Given the description of an element on the screen output the (x, y) to click on. 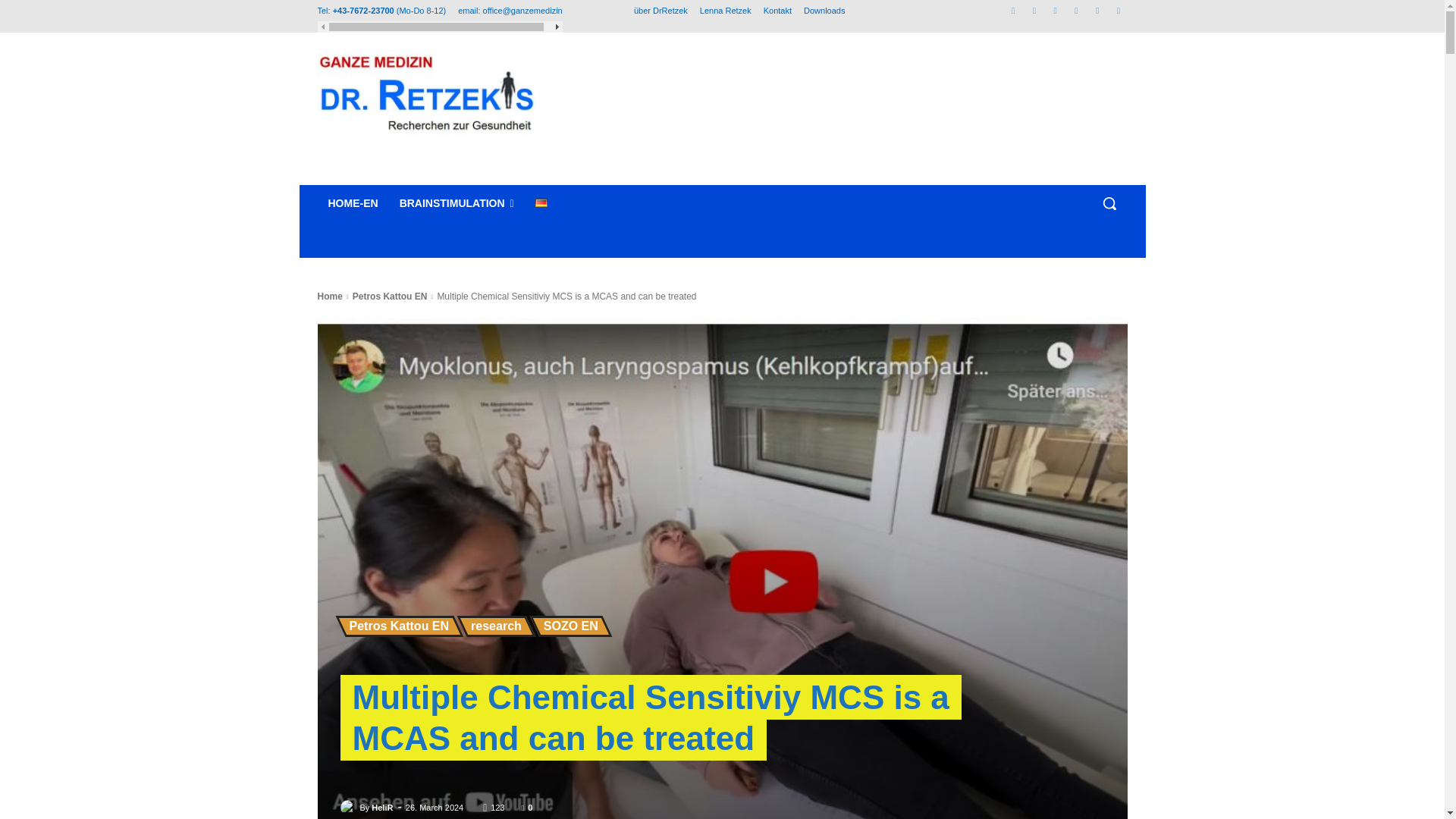
View all posts in Petros Kattou EN (390, 296)
Instagram (1033, 9)
Lenna Retzek (725, 10)
HeliR (382, 807)
Petros Kattou EN (398, 626)
Youtube (1117, 9)
Twitter (1097, 9)
BRAINSTIMULATION (456, 203)
Paypal (1075, 9)
Home (329, 296)
